Given the description of an element on the screen output the (x, y) to click on. 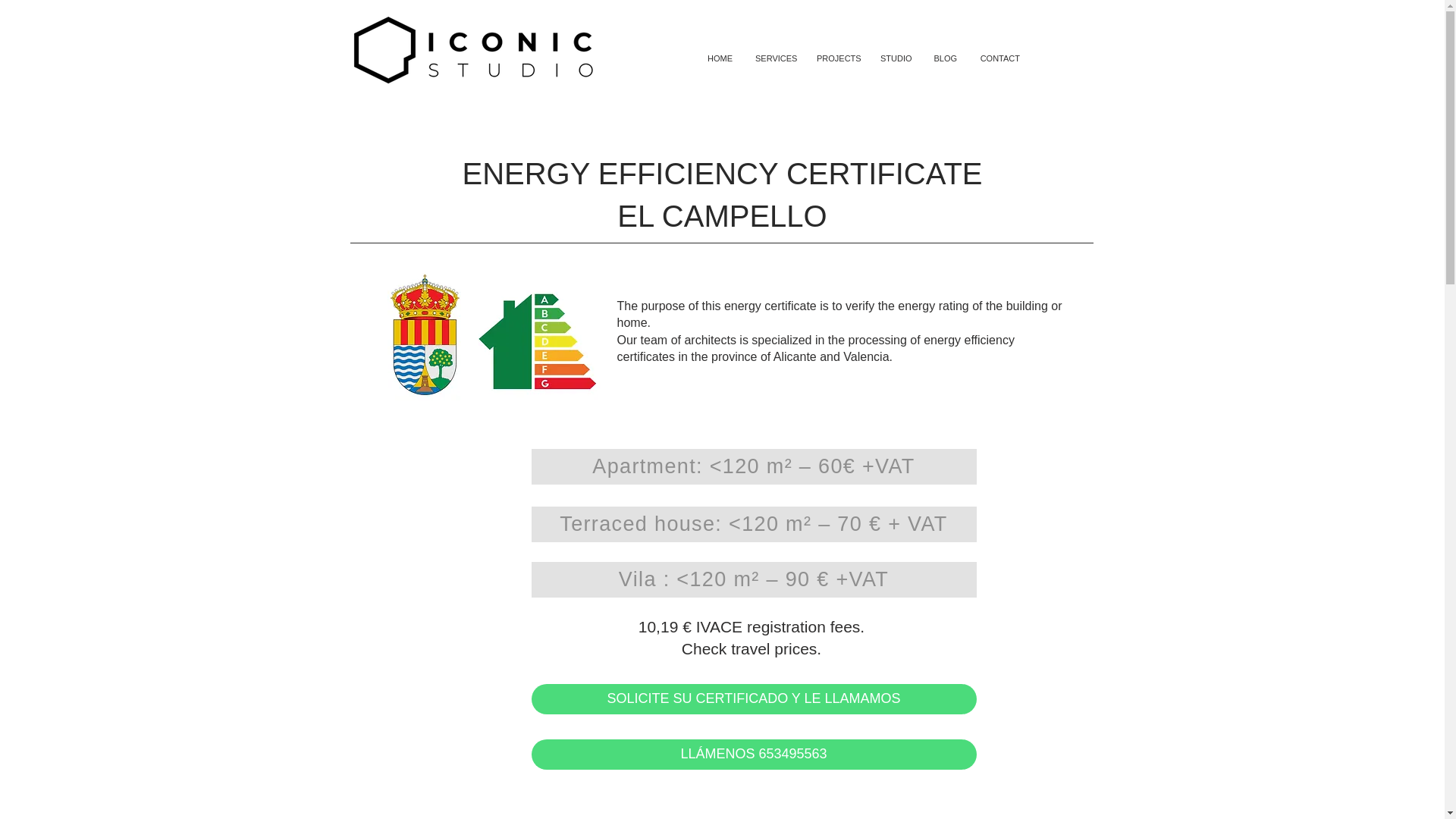
BLOG (944, 58)
CONTACT (999, 58)
HOME (719, 58)
SERVICES (774, 58)
SOLICITE SU CERTIFICADO Y LE LLAMAMOS (753, 698)
PROJECTS (837, 58)
STUDIO (895, 58)
